Given the description of an element on the screen output the (x, y) to click on. 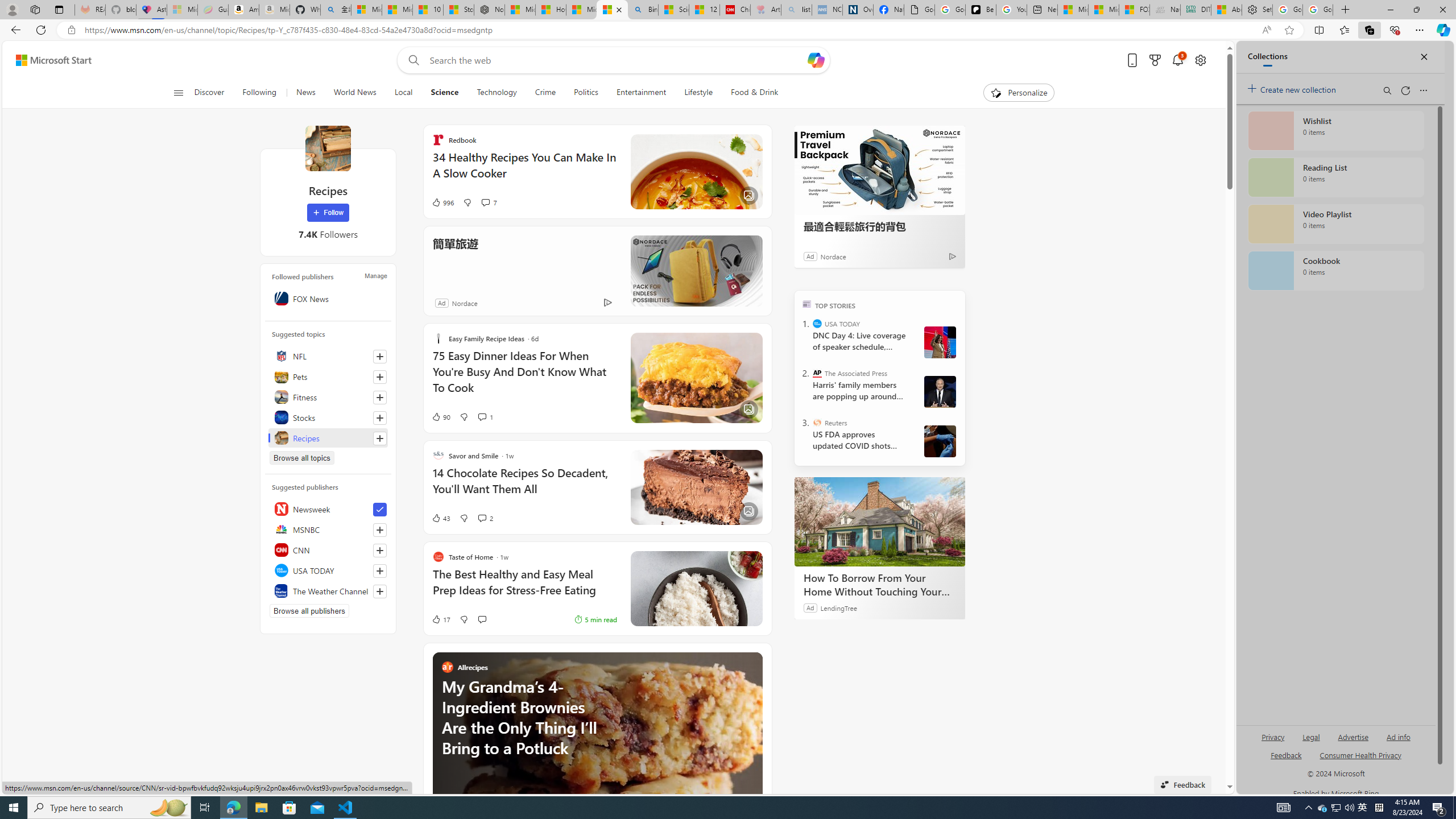
Reuters (816, 422)
Fitness (327, 397)
USA TODAY (816, 323)
Aberdeen, Hong Kong SAR hourly forecast | Microsoft Weather (1226, 9)
Redbook34 Healthy Recipes You Can Make In A Slow Cooker996 (596, 171)
